Given the description of an element on the screen output the (x, y) to click on. 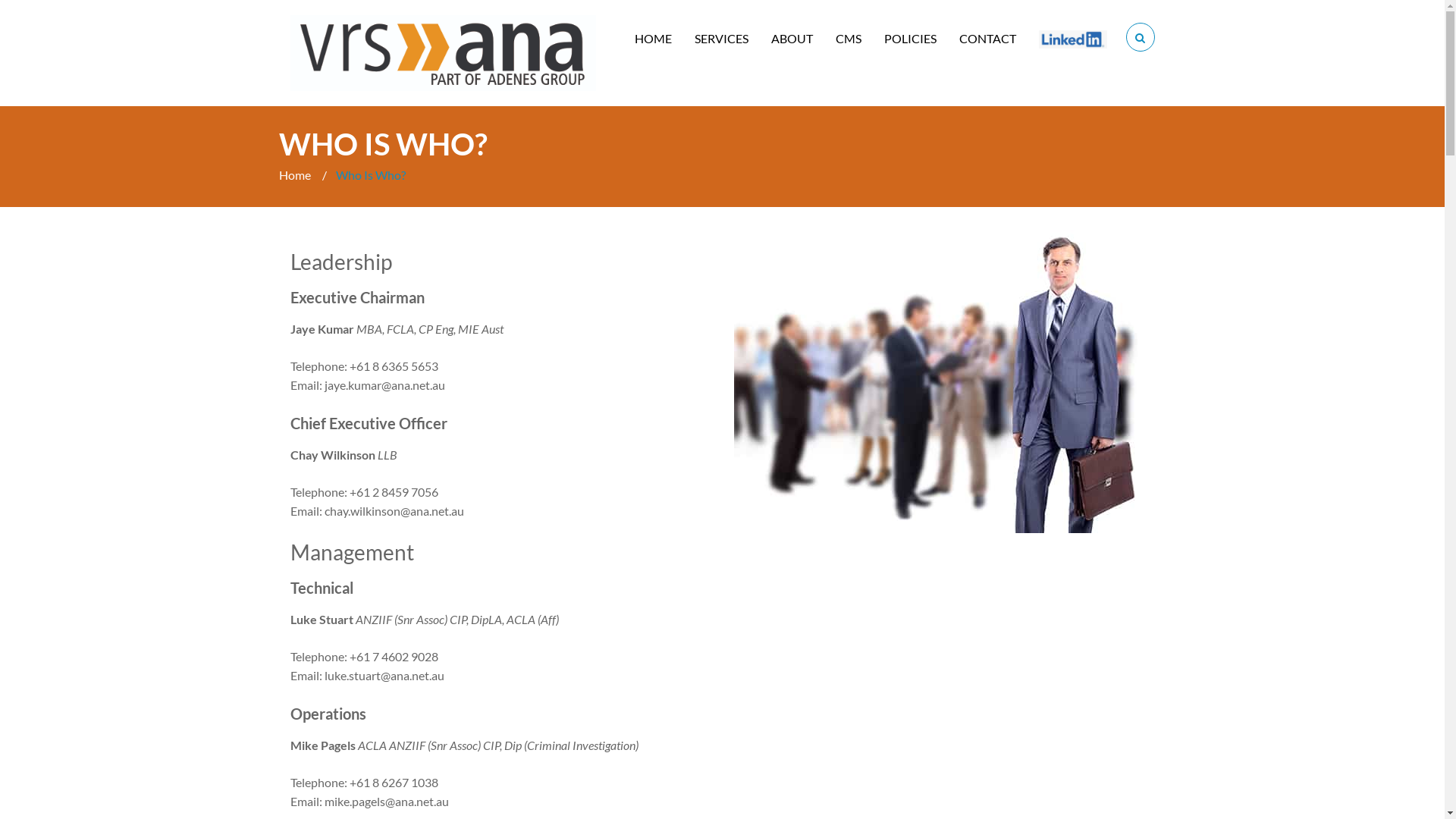
LINKEDIN Element type: text (1072, 39)
Home Element type: text (296, 174)
Who Is Who? Element type: text (369, 174)
SERVICES Element type: text (721, 38)
CMS Element type: text (848, 38)
ABOUT Element type: text (791, 38)
HOME Element type: text (652, 38)
POLICIES Element type: text (910, 38)
CONTACT Element type: text (986, 38)
